Given the description of an element on the screen output the (x, y) to click on. 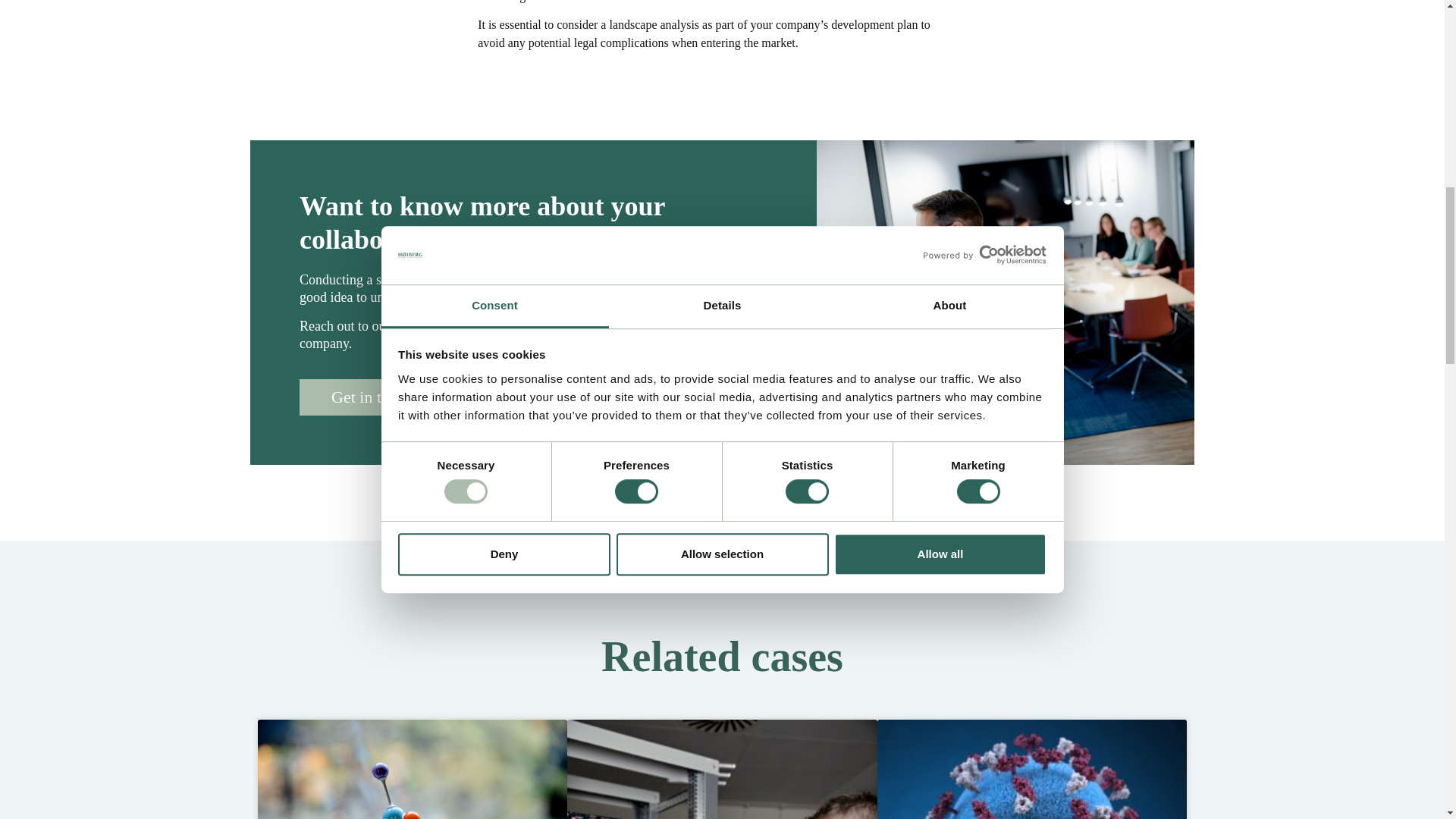
Morten Meldal (412, 769)
